Given the description of an element on the screen output the (x, y) to click on. 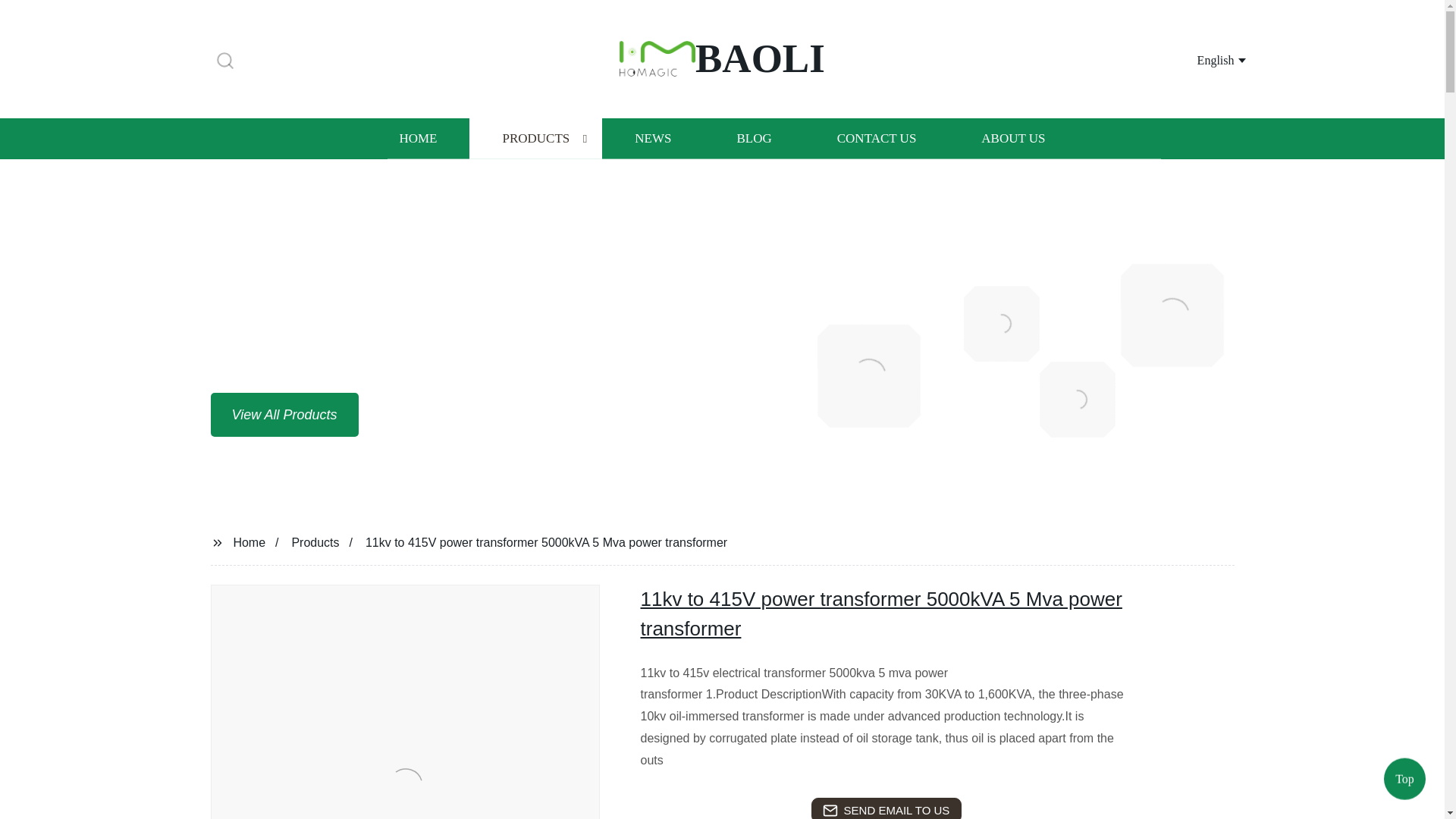
HOME (417, 137)
English (1203, 59)
PRODUCTS (535, 137)
SEND EMAIL TO US (885, 808)
English (1203, 59)
Products (315, 541)
Home (248, 541)
CONTACT US (877, 137)
BLOG (753, 137)
NEWS (652, 137)
